Given the description of an element on the screen output the (x, y) to click on. 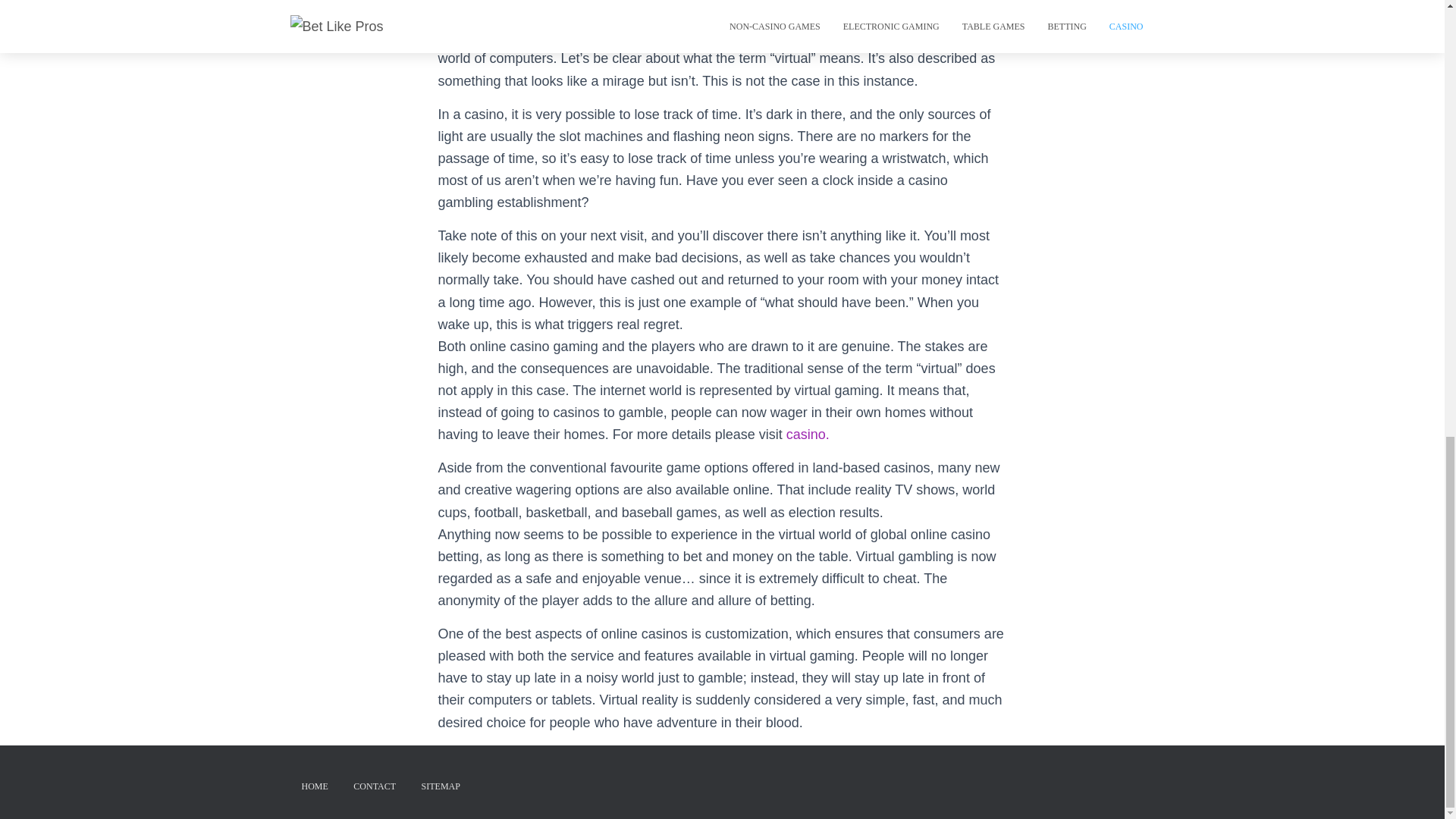
HOME (314, 786)
casino. (807, 434)
CONTACT (374, 786)
SITEMAP (440, 786)
